Given the description of an element on the screen output the (x, y) to click on. 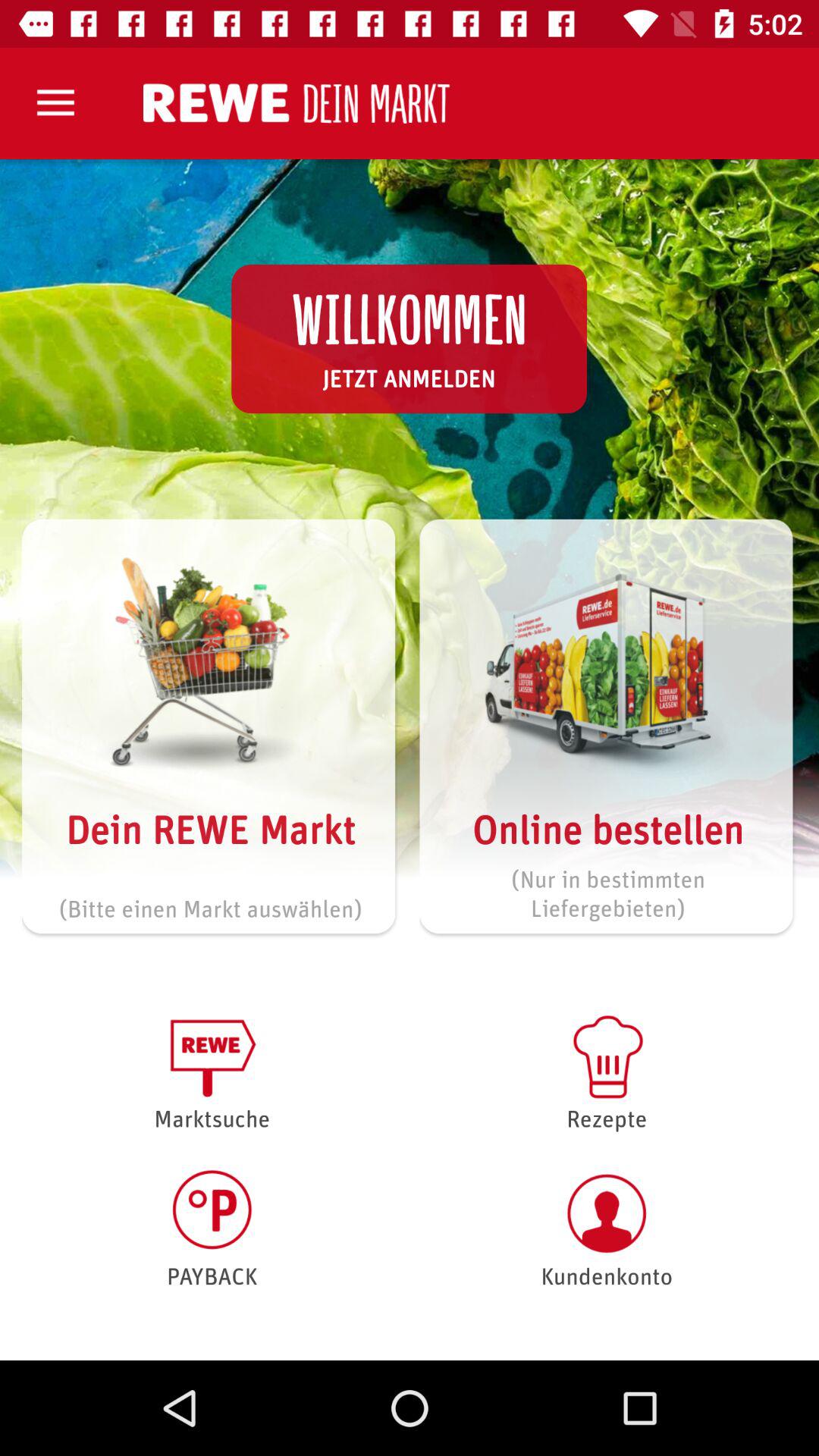
choose icon to the right of the marktsuche item (606, 1228)
